Given the description of an element on the screen output the (x, y) to click on. 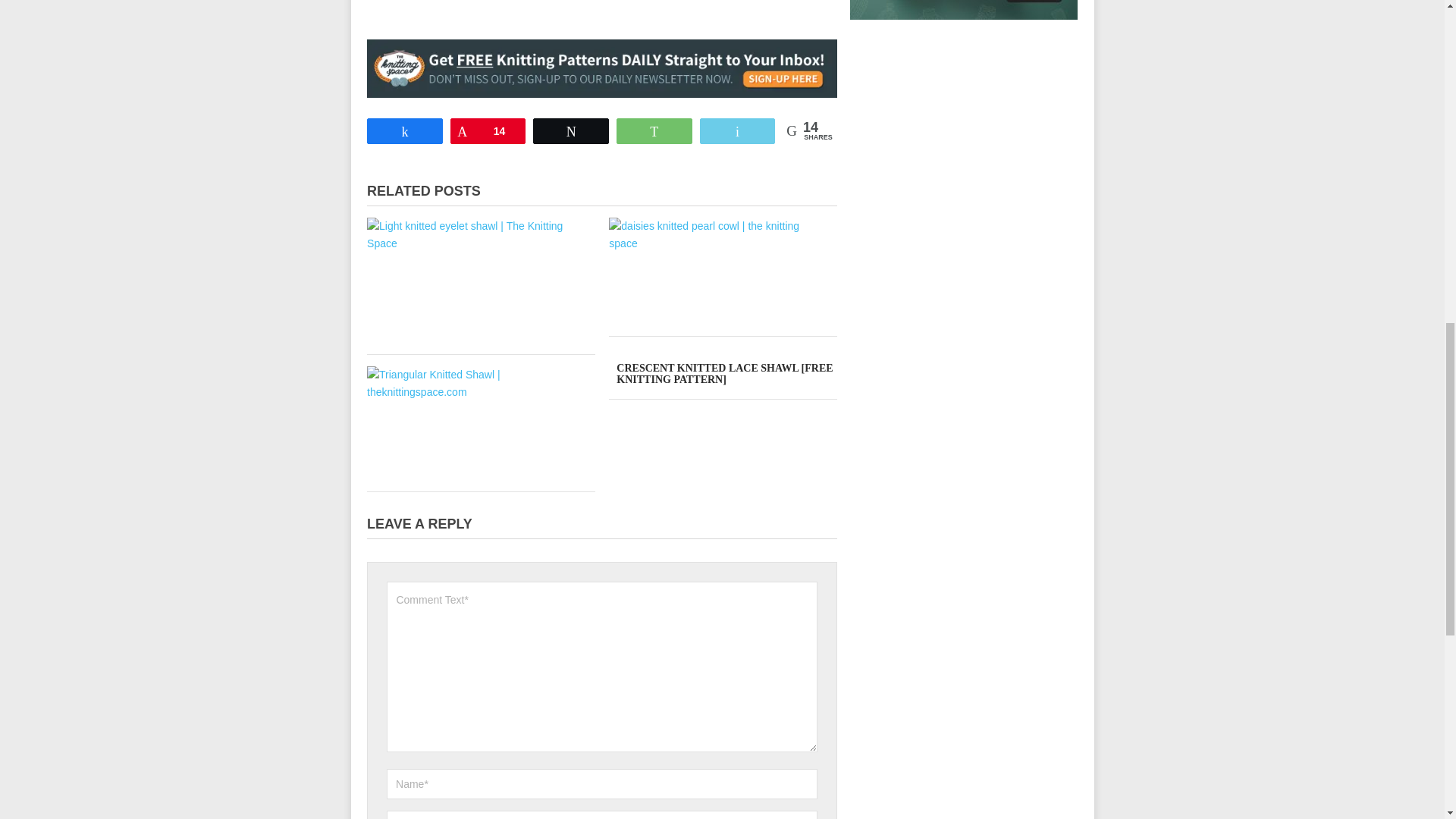
14 (488, 129)
